Given the description of an element on the screen output the (x, y) to click on. 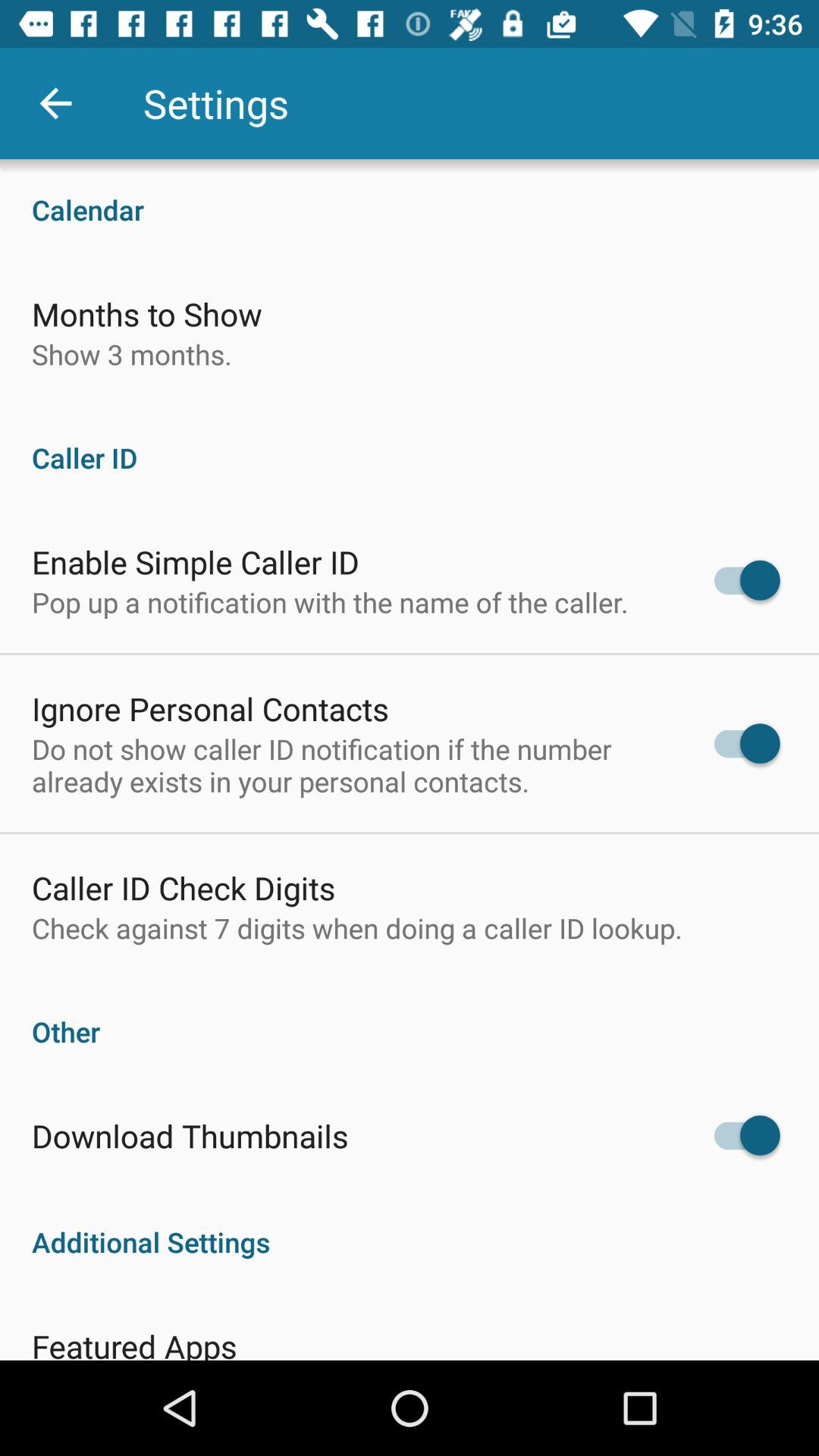
press icon to the left of the settings item (55, 103)
